Given the description of an element on the screen output the (x, y) to click on. 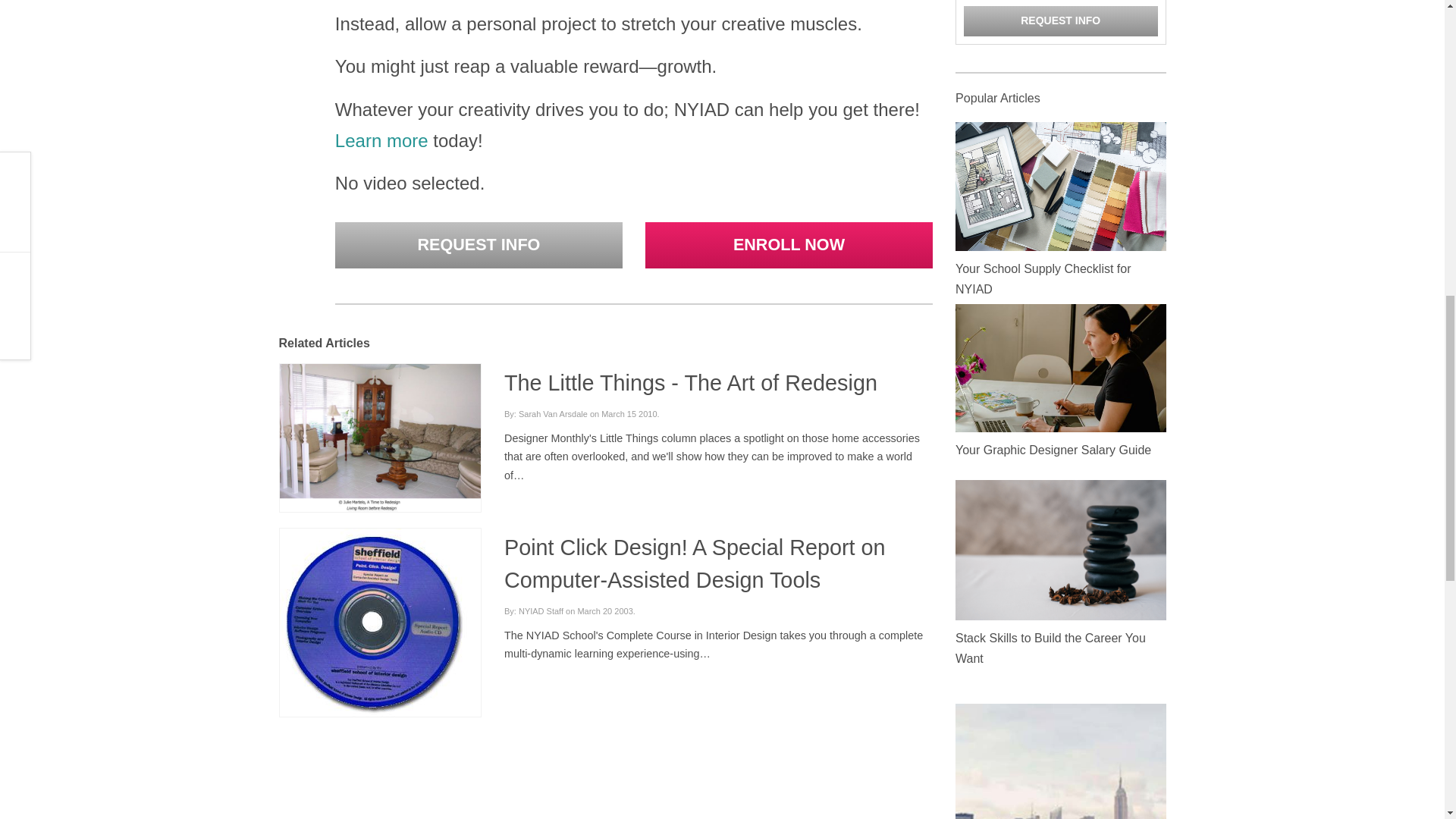
Your Graphic Designer Salary Guide  (1053, 449)
The Little Things - The Art of Redesign (690, 382)
Round black rocks stacked on top of each other. (1060, 548)
The Little Things - The Art of Redesign (379, 437)
Round black rocks stacked on top of each other. (1060, 549)
Your School Supply Checklist for NYIAD (1060, 186)
The Little Things - The Art of Redesign (379, 435)
